Given the description of an element on the screen output the (x, y) to click on. 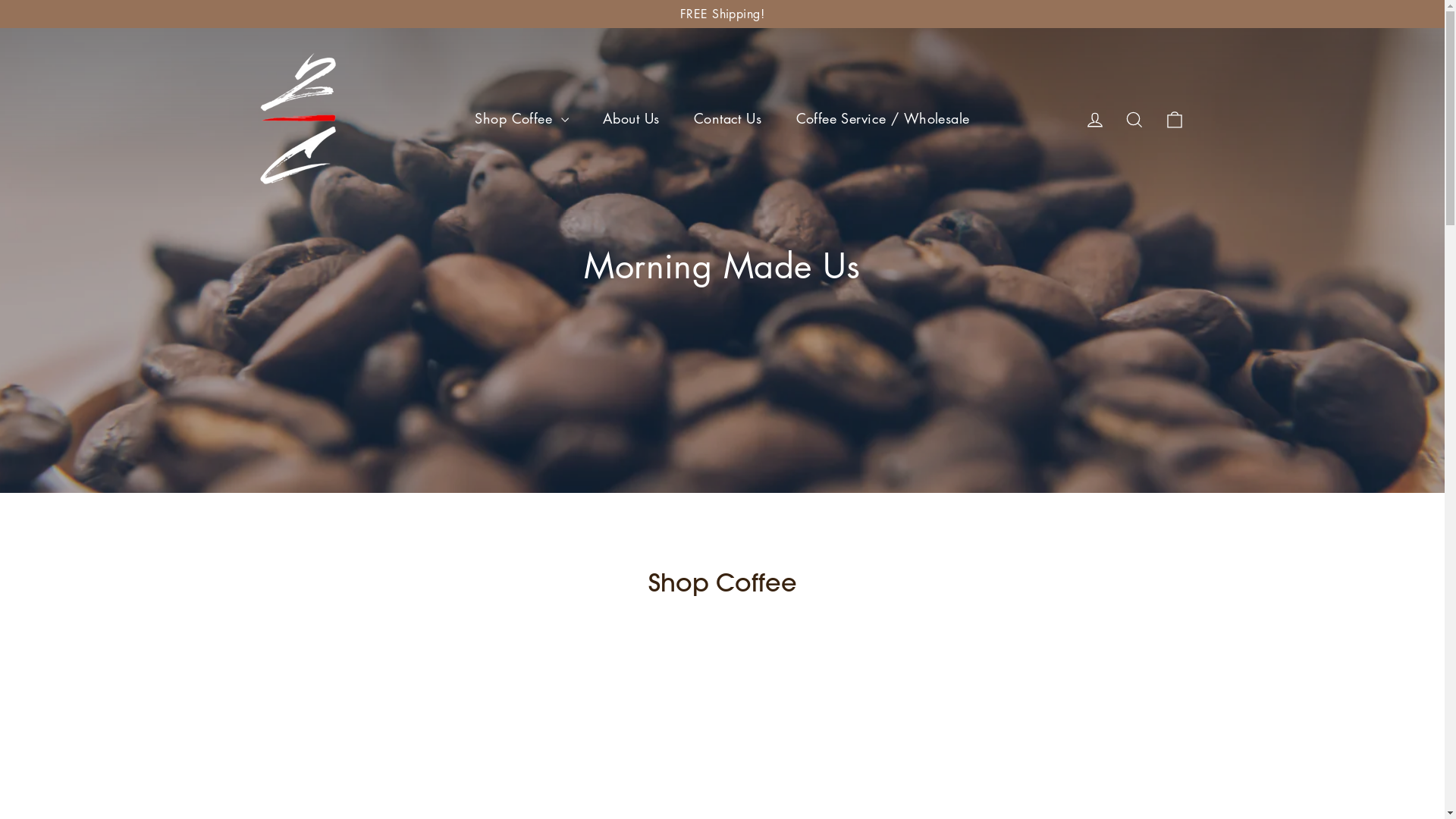
About Us Element type: text (630, 118)
Shop Coffee Element type: text (521, 118)
Contact Us Element type: text (727, 118)
Coffee Service / Wholesale Element type: text (883, 118)
Search Element type: text (1134, 118)
FREE Shipping! Element type: text (722, 14)
Cart Element type: text (1173, 118)
Log in Element type: text (1094, 118)
